Given the description of an element on the screen output the (x, y) to click on. 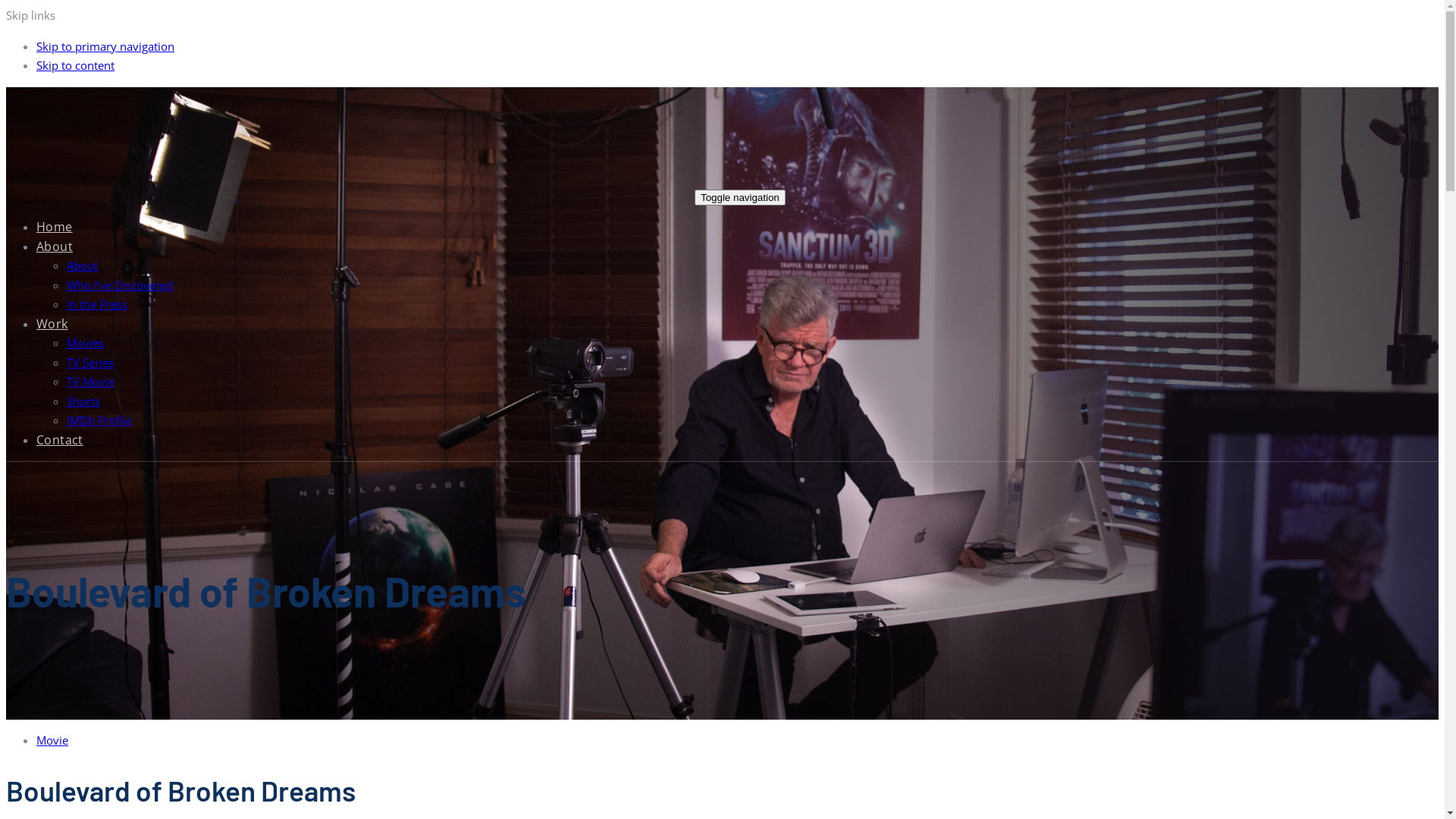
Movie Element type: text (52, 739)
Movies Element type: text (84, 342)
About Element type: text (81, 265)
Skip to content Element type: text (75, 64)
Contact Element type: text (59, 438)
About Element type: text (54, 246)
Shorts Element type: text (83, 399)
Skip to primary navigation Element type: text (105, 45)
In the Press Element type: text (96, 303)
IMDb Profile Element type: text (98, 419)
Home Element type: text (54, 226)
Toggle navigation Element type: text (739, 197)
TV Movie Element type: text (90, 381)
TV Series Element type: text (89, 362)
Work Element type: text (52, 323)
